Given the description of an element on the screen output the (x, y) to click on. 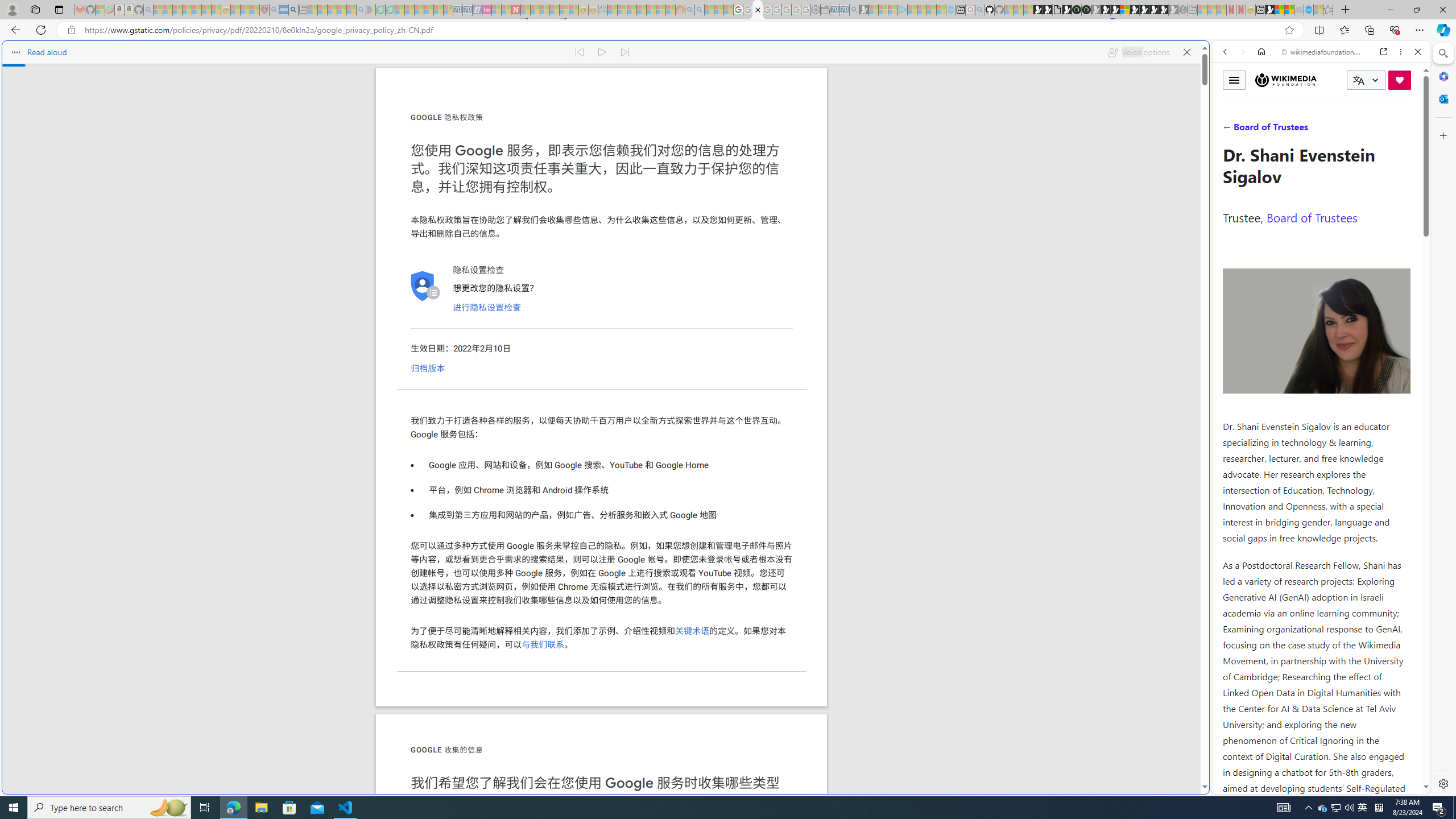
google_privacy_policy_zh-CN.pdf (757, 9)
Preferences (1403, 129)
Personal Profile (12, 9)
NCL Adult Asthma Inhaler Choice Guideline - Sleeping (283, 9)
DITOGAMES AG Imprint - Sleeping (602, 9)
Home | Sky Blue Bikes - Sky Blue Bikes (1118, 242)
IMAGES (1262, 130)
Favorites - Sleeping (1327, 9)
Bluey: Let's Play! - Apps on Google Play - Sleeping (370, 9)
wikimediafoundation.org (1323, 51)
Voice options (1138, 52)
Web scope (1230, 102)
